Given the description of an element on the screen output the (x, y) to click on. 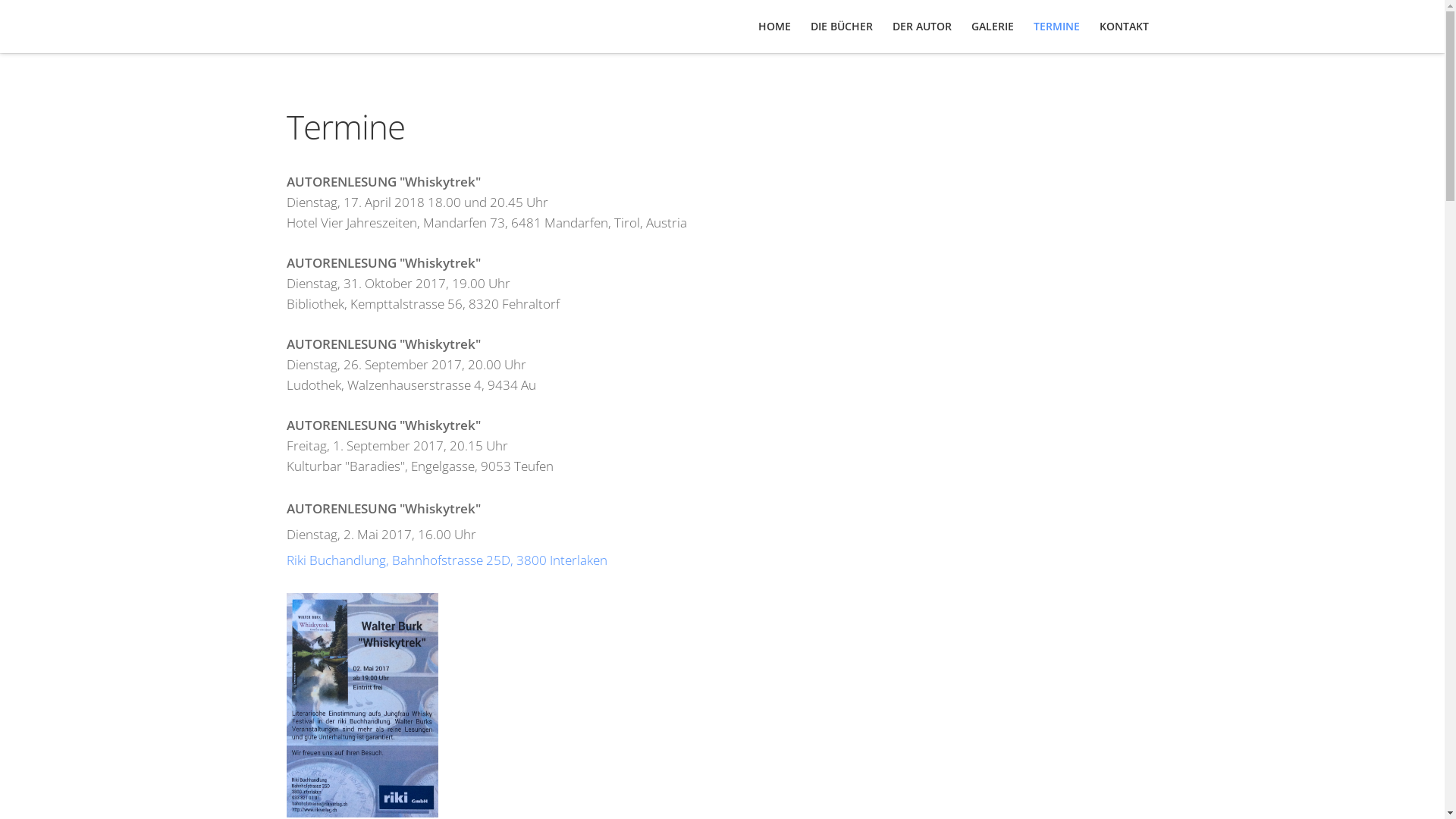
Riki Buchandlung, Bahnhofstrasse 25D, 3800 Interlaken Element type: text (446, 559)
DER AUTOR Element type: text (921, 26)
HOME Element type: text (773, 26)
KONTAKT Element type: text (1122, 26)
TERMINE Element type: text (1056, 26)
GALERIE Element type: text (992, 26)
Termine Element type: text (345, 126)
